Given the description of an element on the screen output the (x, y) to click on. 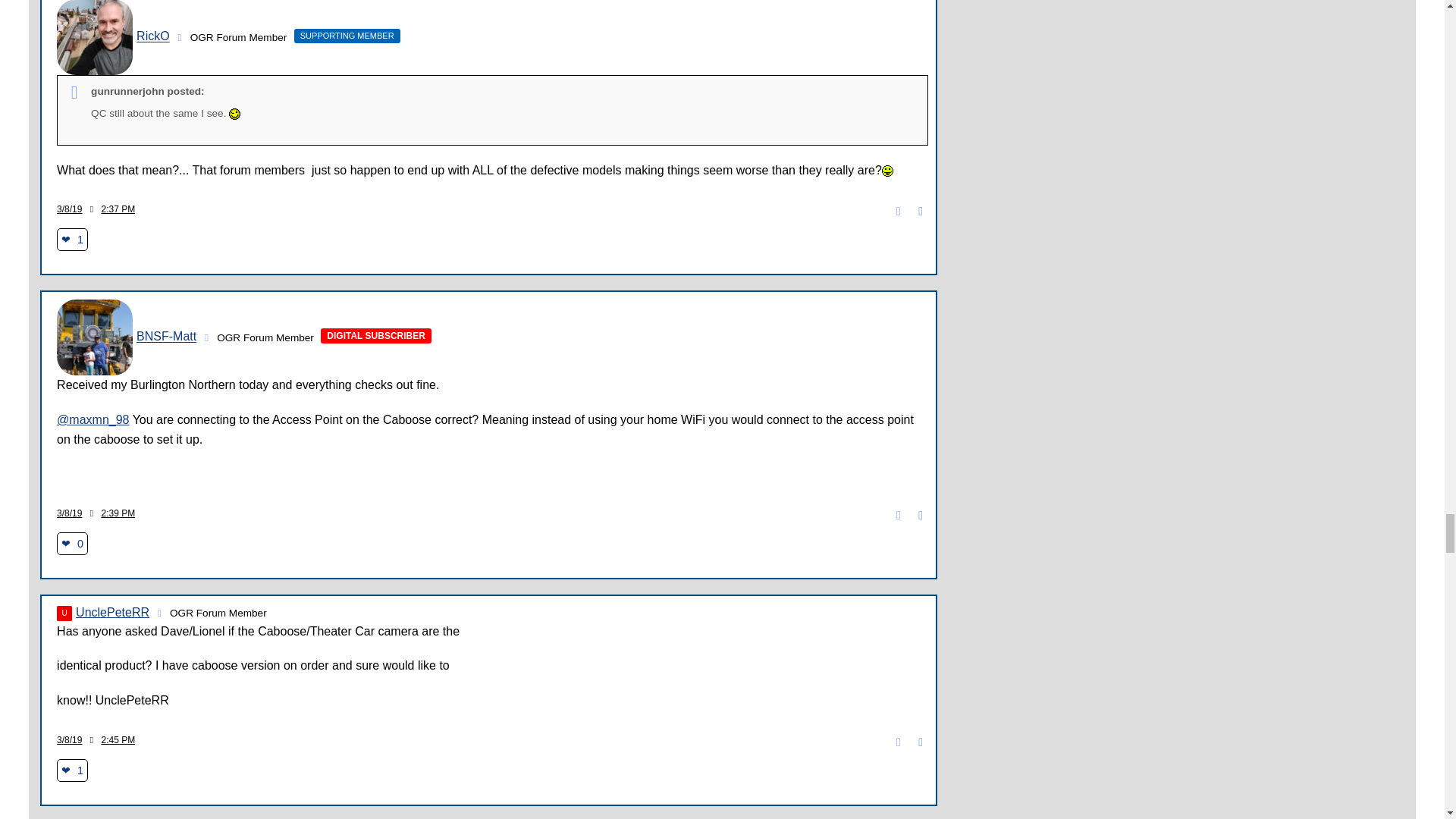
U (63, 613)
